Given the description of an element on the screen output the (x, y) to click on. 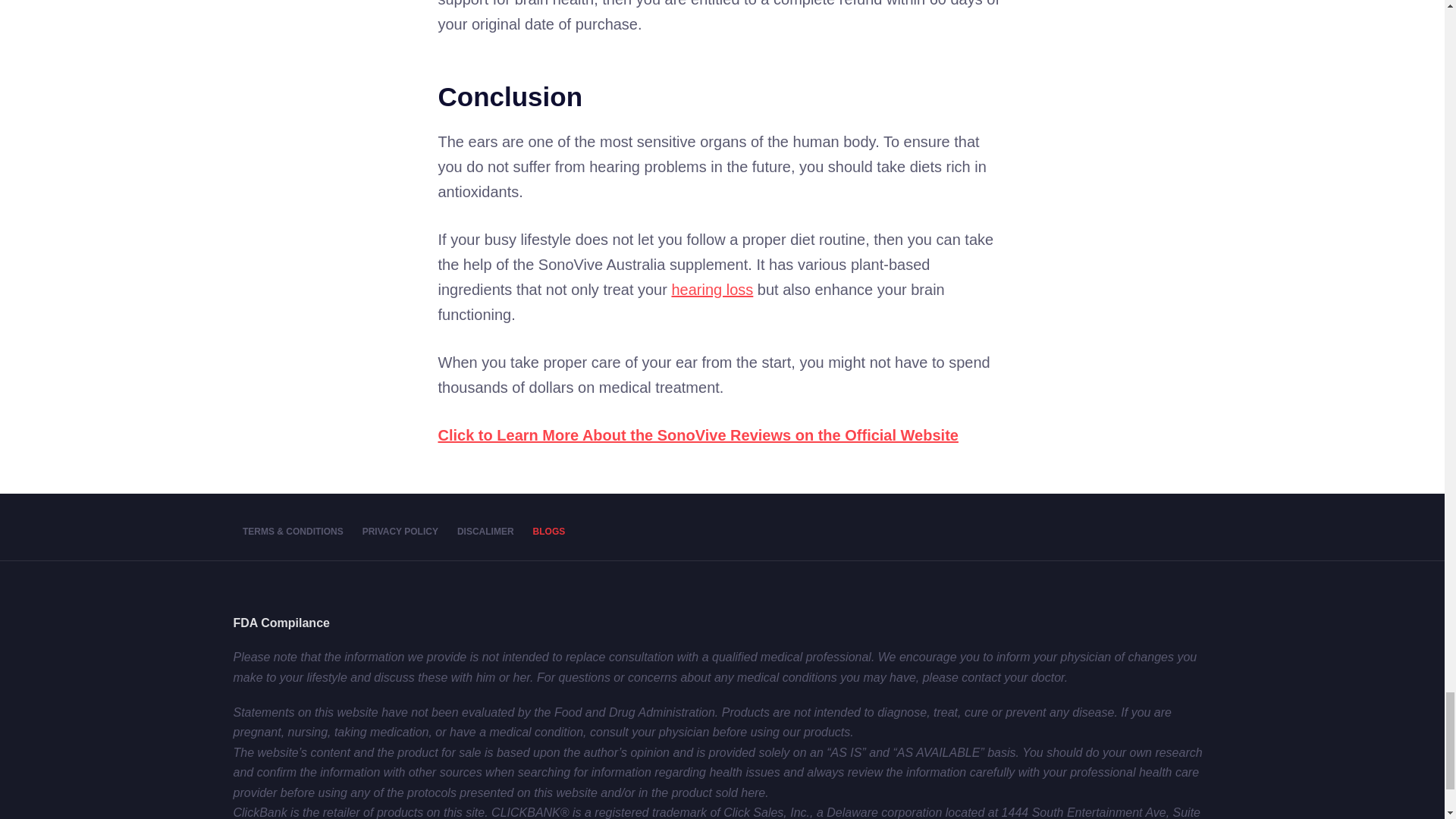
DISCALIMER (484, 532)
hearing loss (711, 289)
BLOGS (548, 532)
PRIVACY POLICY (399, 532)
